Given the description of an element on the screen output the (x, y) to click on. 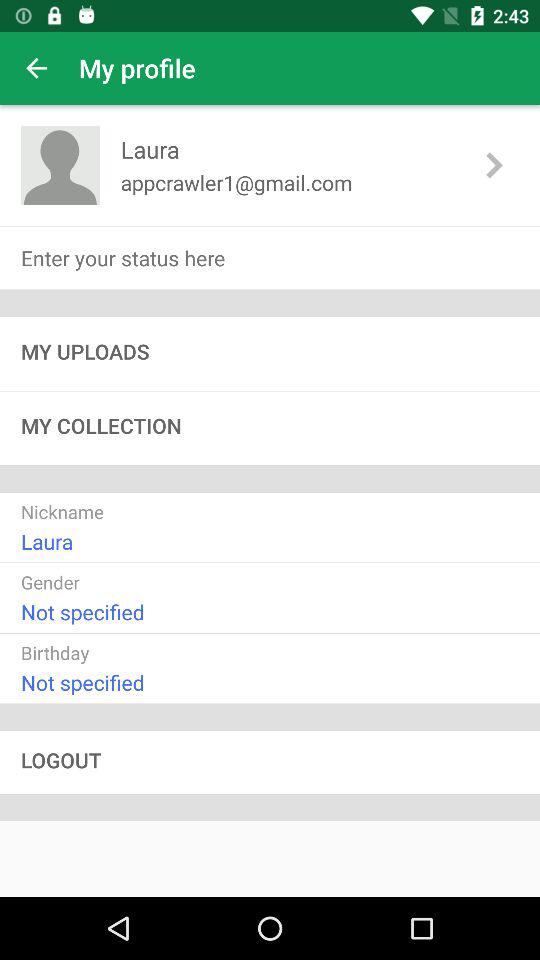
scroll until the my uploads item (270, 353)
